Given the description of an element on the screen output the (x, y) to click on. 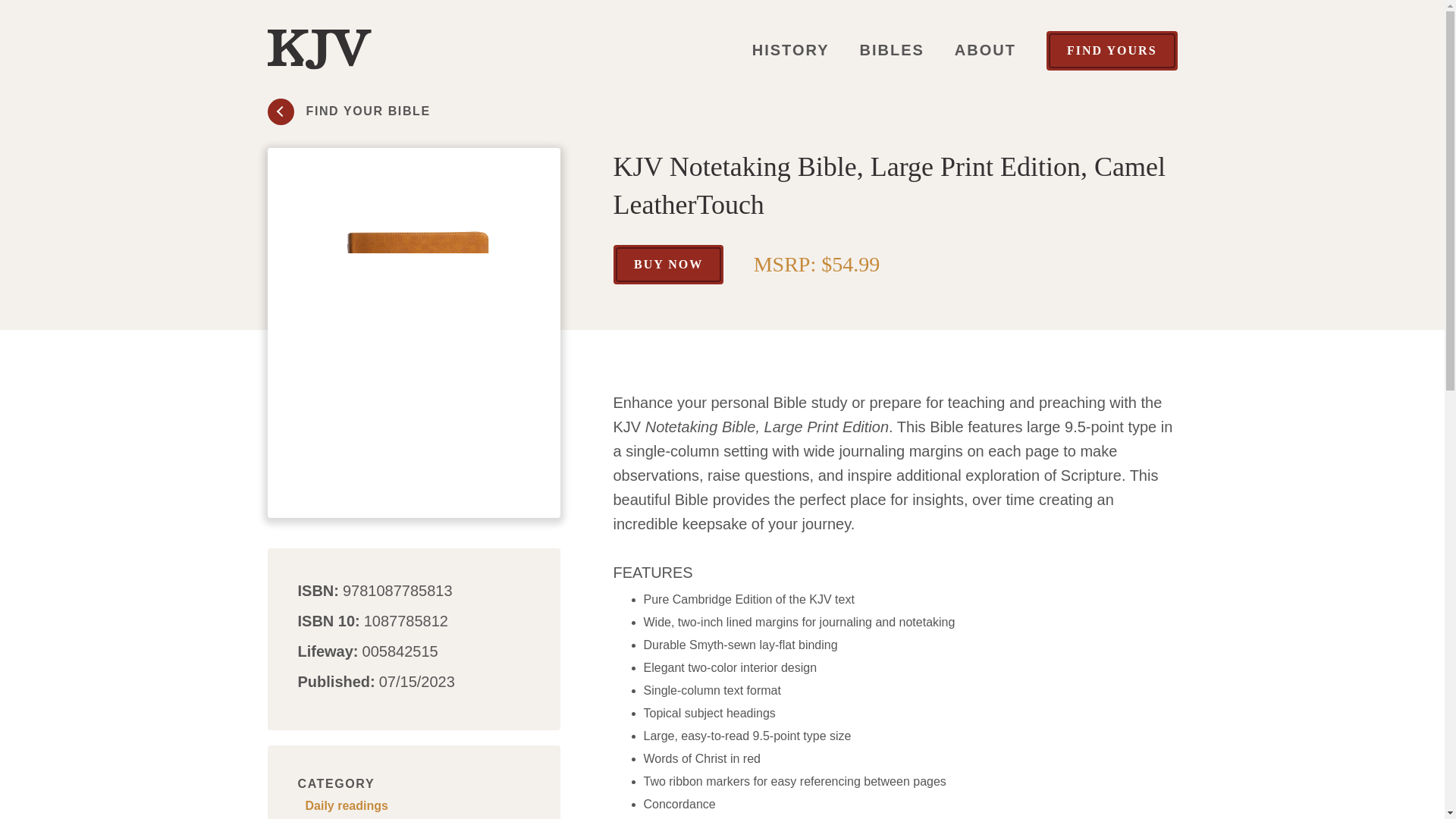
Daily readings (318, 50)
ABOUT (416, 805)
FIND YOUR BIBLE (985, 49)
BUY NOW (347, 111)
FIND YOURS (667, 264)
Devotional (1111, 49)
BIBLES (790, 49)
KJV Logo (892, 49)
Return to Homepage (318, 48)
